Given the description of an element on the screen output the (x, y) to click on. 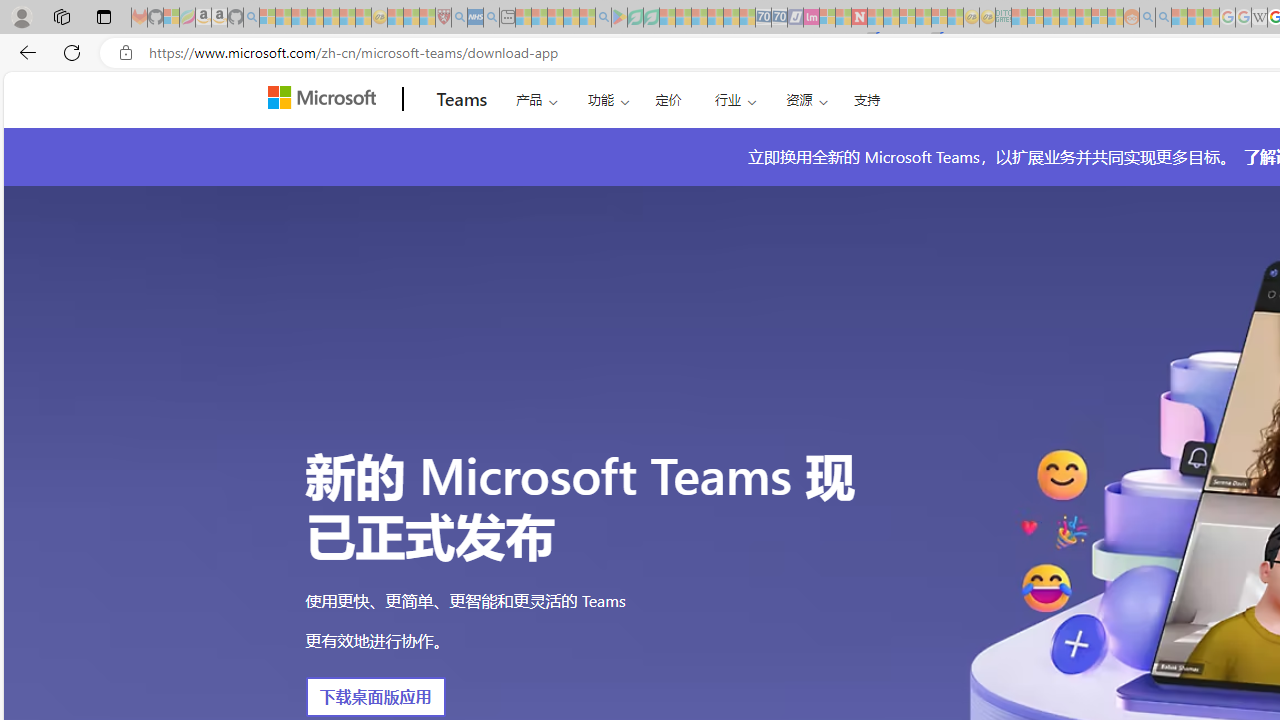
Target page - Wikipedia - Sleeping (1259, 17)
